Given the description of an element on the screen output the (x, y) to click on. 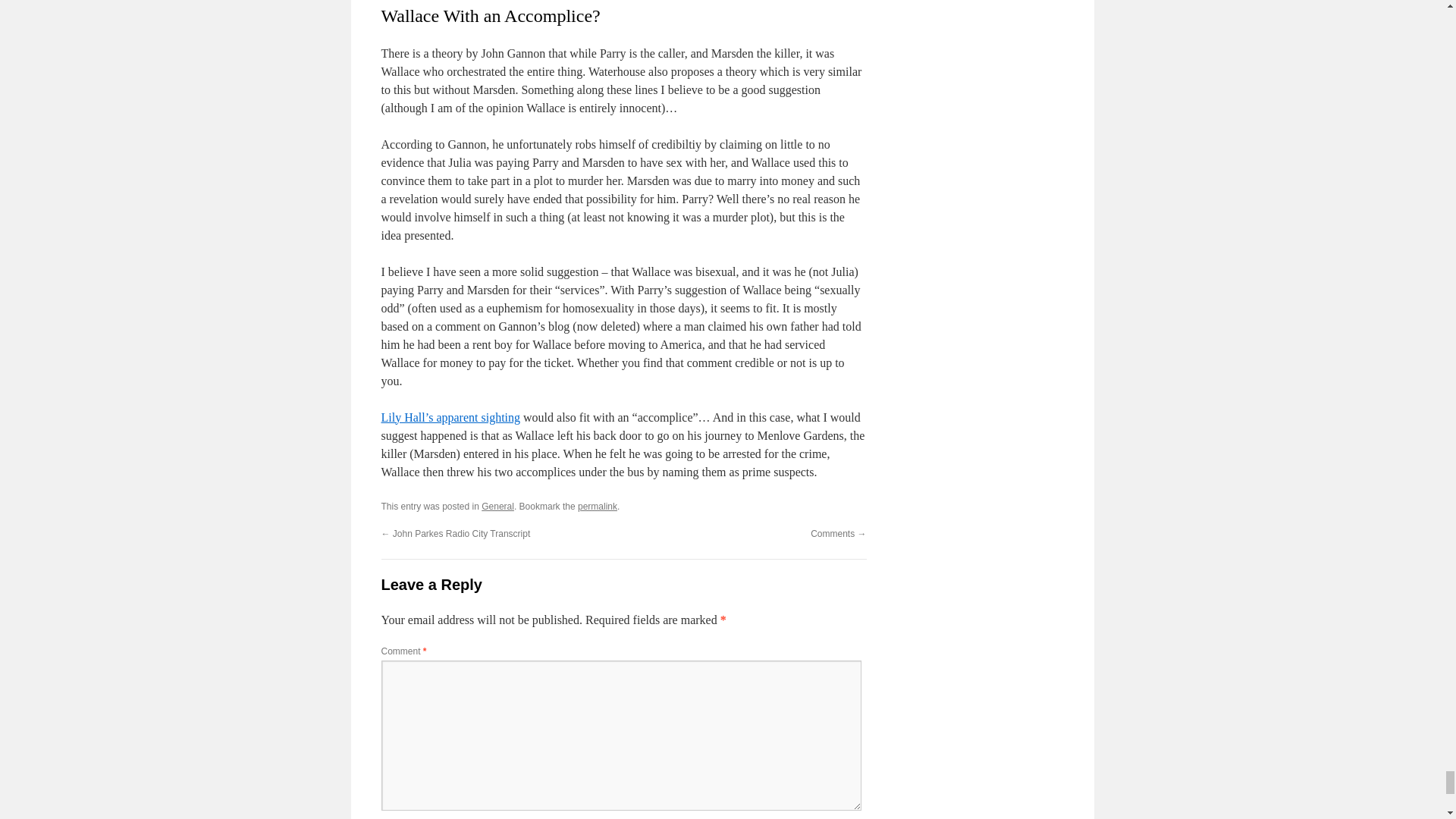
General (497, 506)
Permalink to Reconstruction Backup (597, 506)
